Given the description of an element on the screen output the (x, y) to click on. 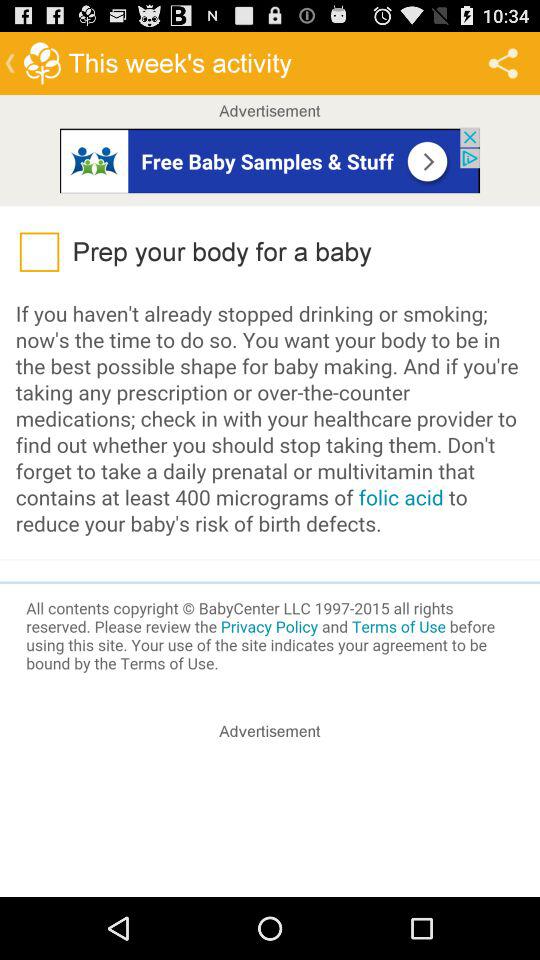
go to website (270, 159)
